Given the description of an element on the screen output the (x, y) to click on. 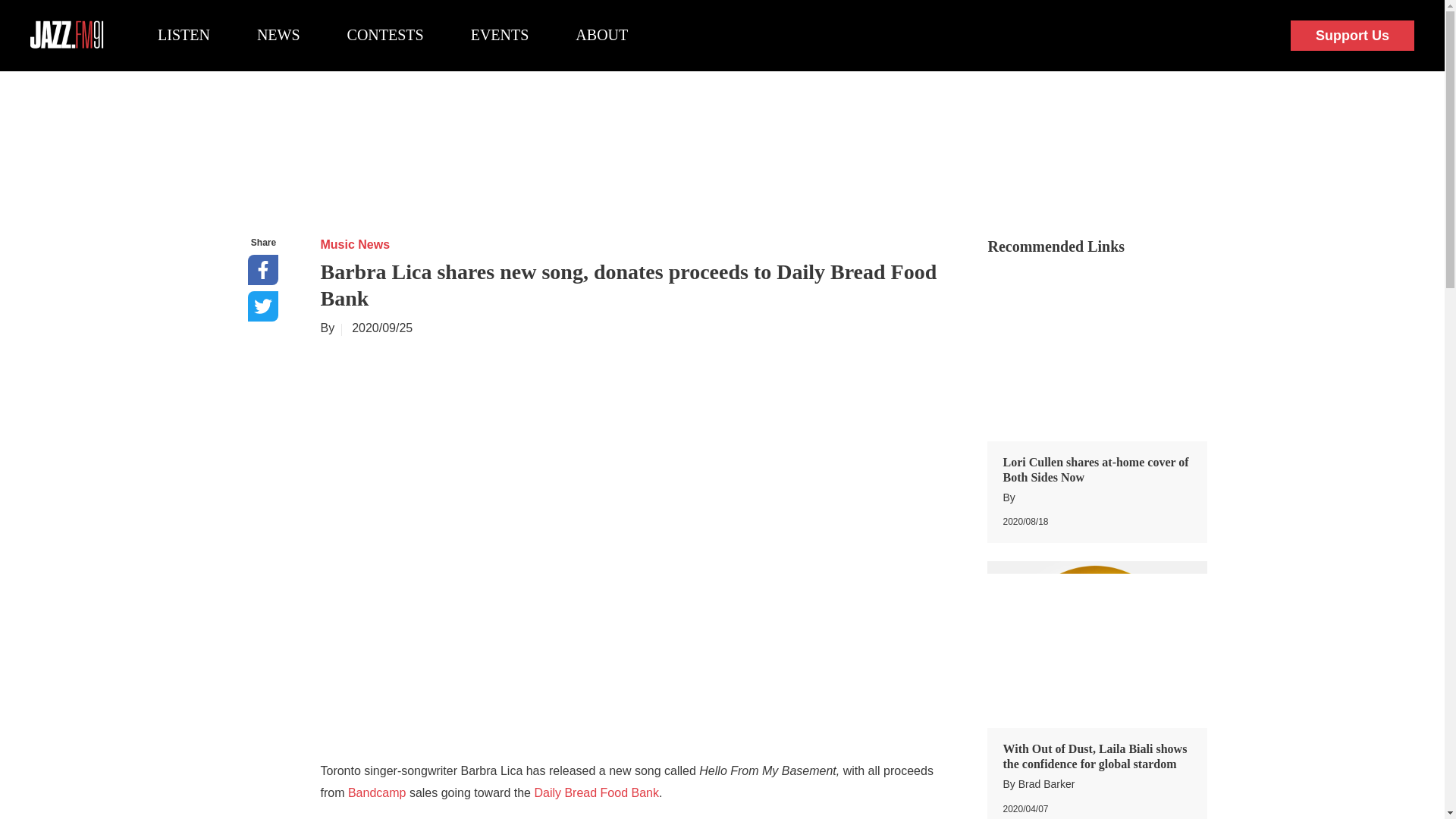
Daily Bread Food Bank (596, 792)
LISTEN (183, 35)
Bandcamp (376, 792)
Support Us (1351, 35)
ABOUT (601, 35)
EVENTS (499, 35)
CONTESTS (384, 35)
